Given the description of an element on the screen output the (x, y) to click on. 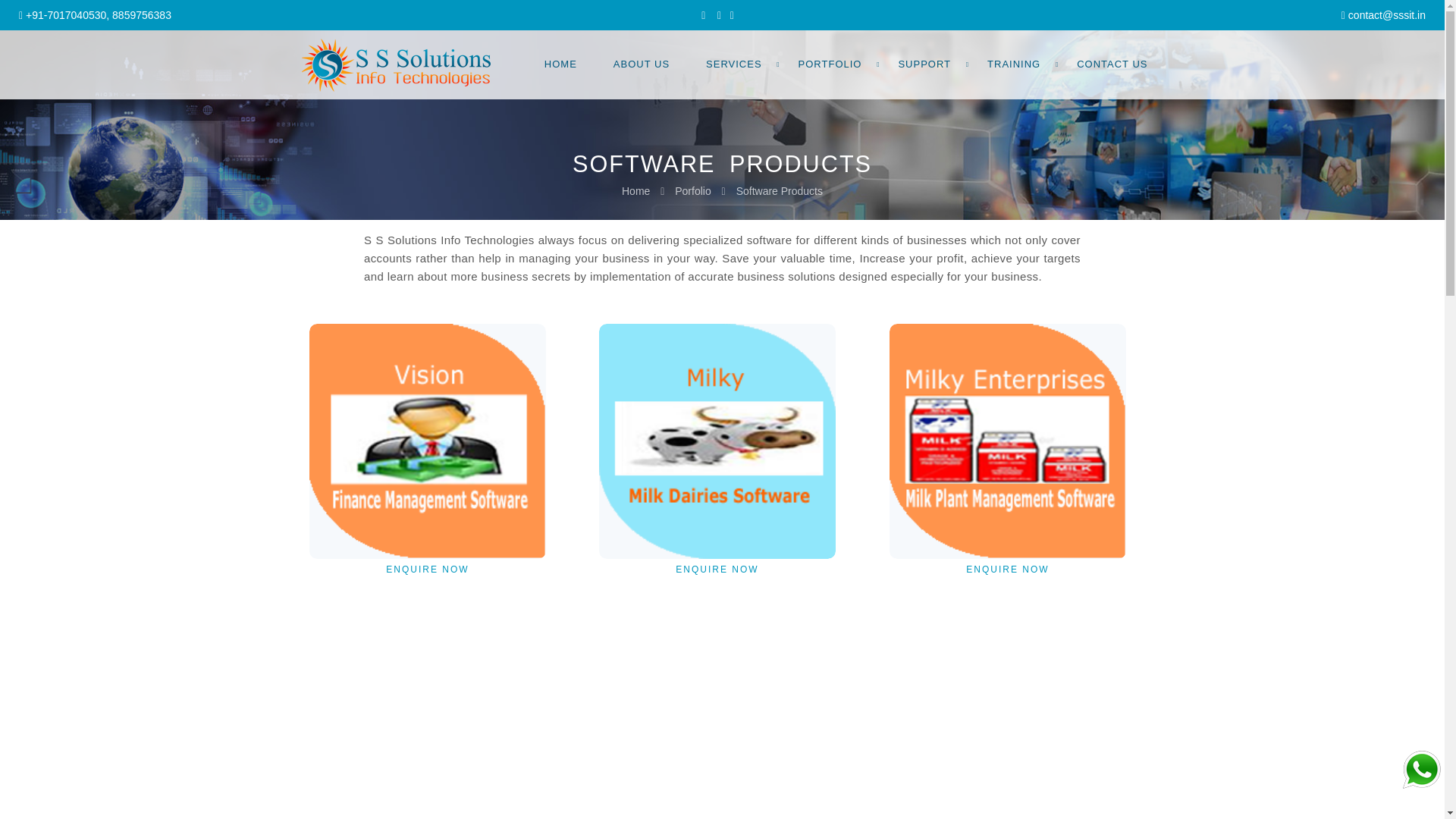
SERVICES (733, 56)
HOME (560, 56)
Home (635, 191)
Software Products (779, 191)
ENQUIRE NOW (1006, 675)
Porfolio (692, 191)
TRAINING (1013, 56)
ABOUT US (641, 56)
SUPPORT (924, 56)
PORTFOLIO (830, 56)
